Given the description of an element on the screen output the (x, y) to click on. 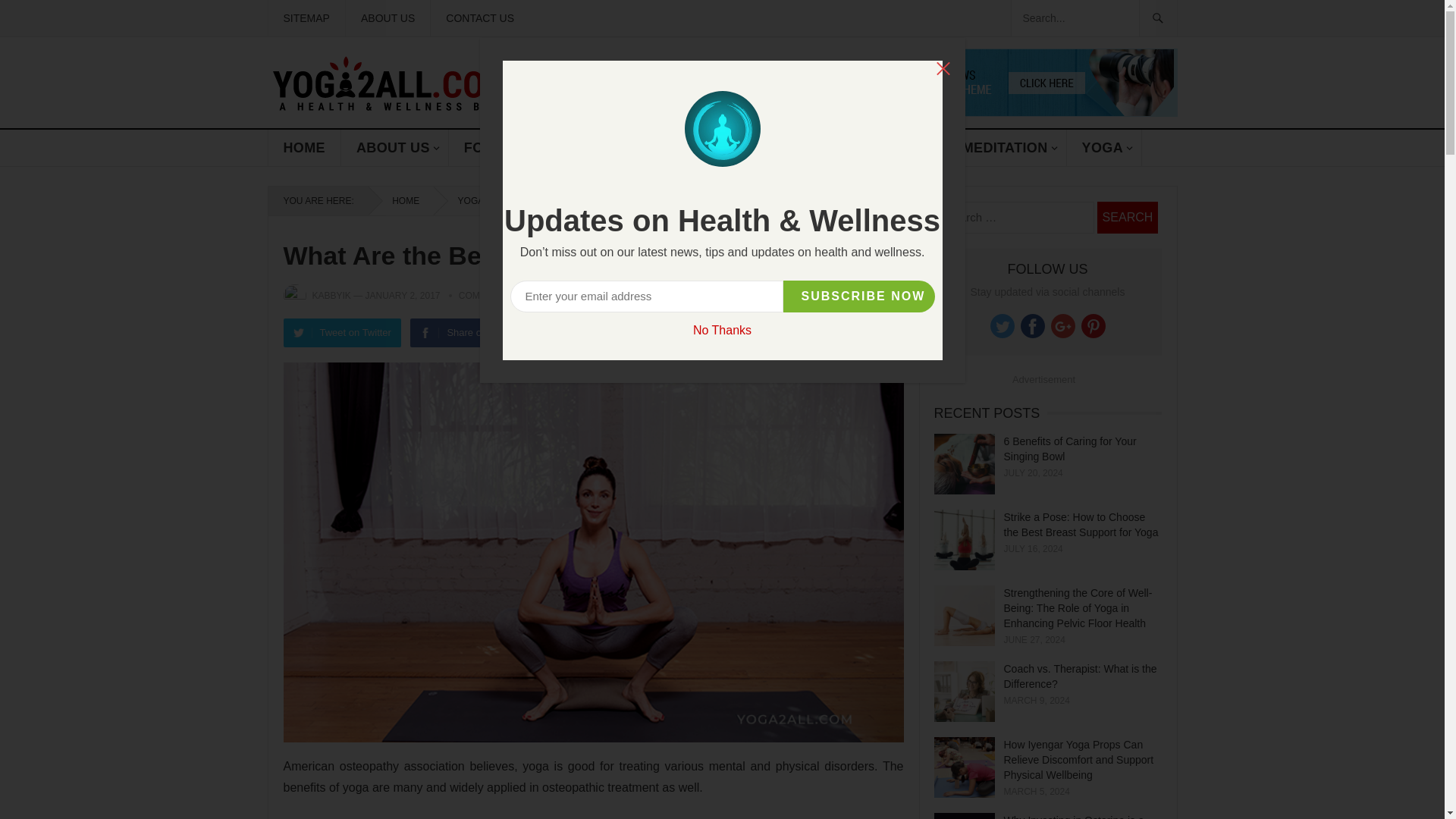
SuperMag (900, 112)
SITEMAP (304, 18)
CONTACT US (479, 18)
ABOUT US (387, 18)
FOOD AND HEALTH (532, 147)
View all posts in Yoga and health (494, 200)
AROMATHERAPY (693, 147)
Subscribe Now (858, 296)
MASSAGE THERAPY (858, 147)
ABOUT US (394, 147)
YOGA (1104, 147)
MEDITATION (1007, 147)
HOME (303, 147)
Posts by Kabbyik (331, 295)
Search (1127, 217)
